Given the description of an element on the screen output the (x, y) to click on. 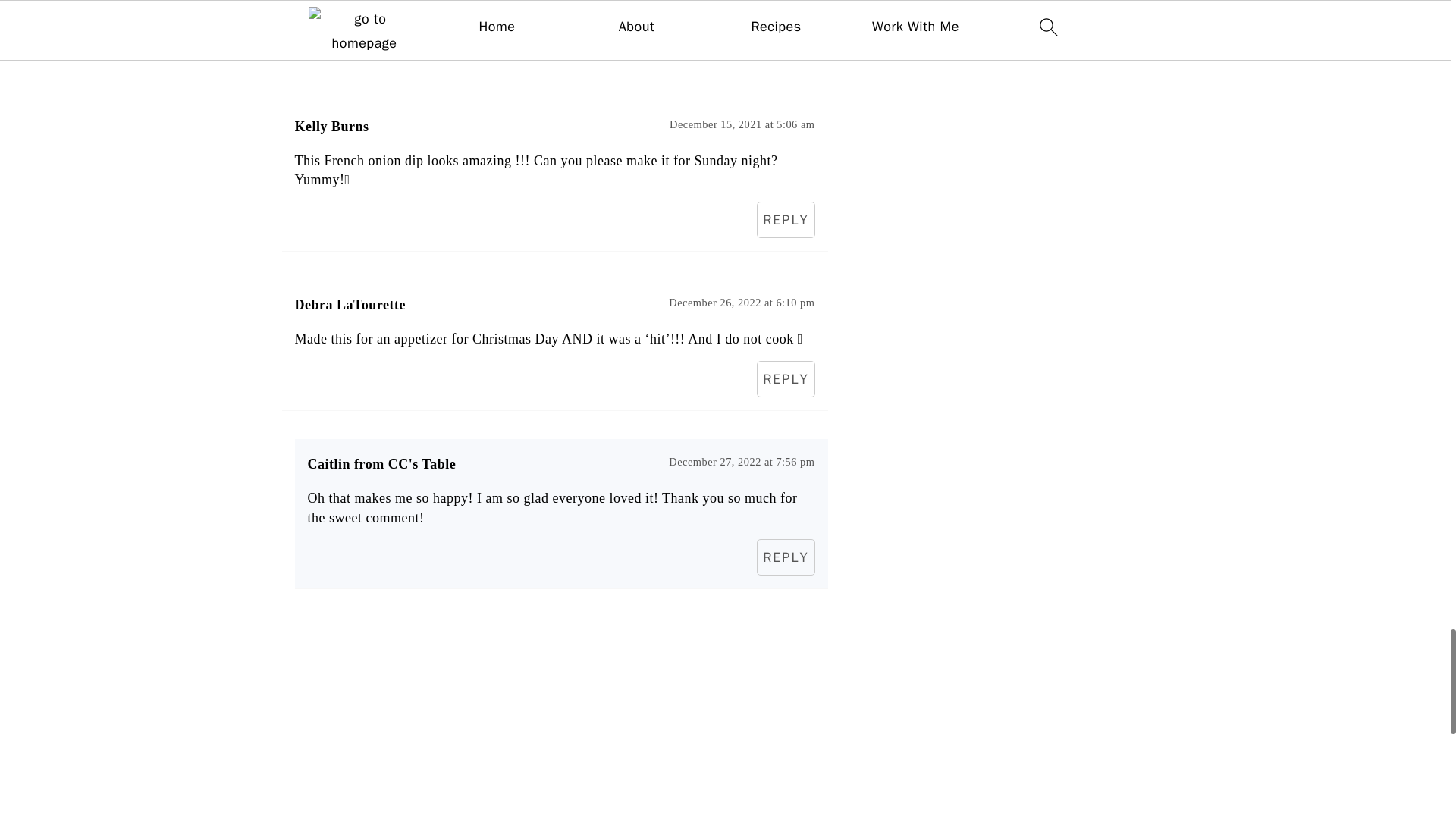
Post Comment (360, 19)
